Given the description of an element on the screen output the (x, y) to click on. 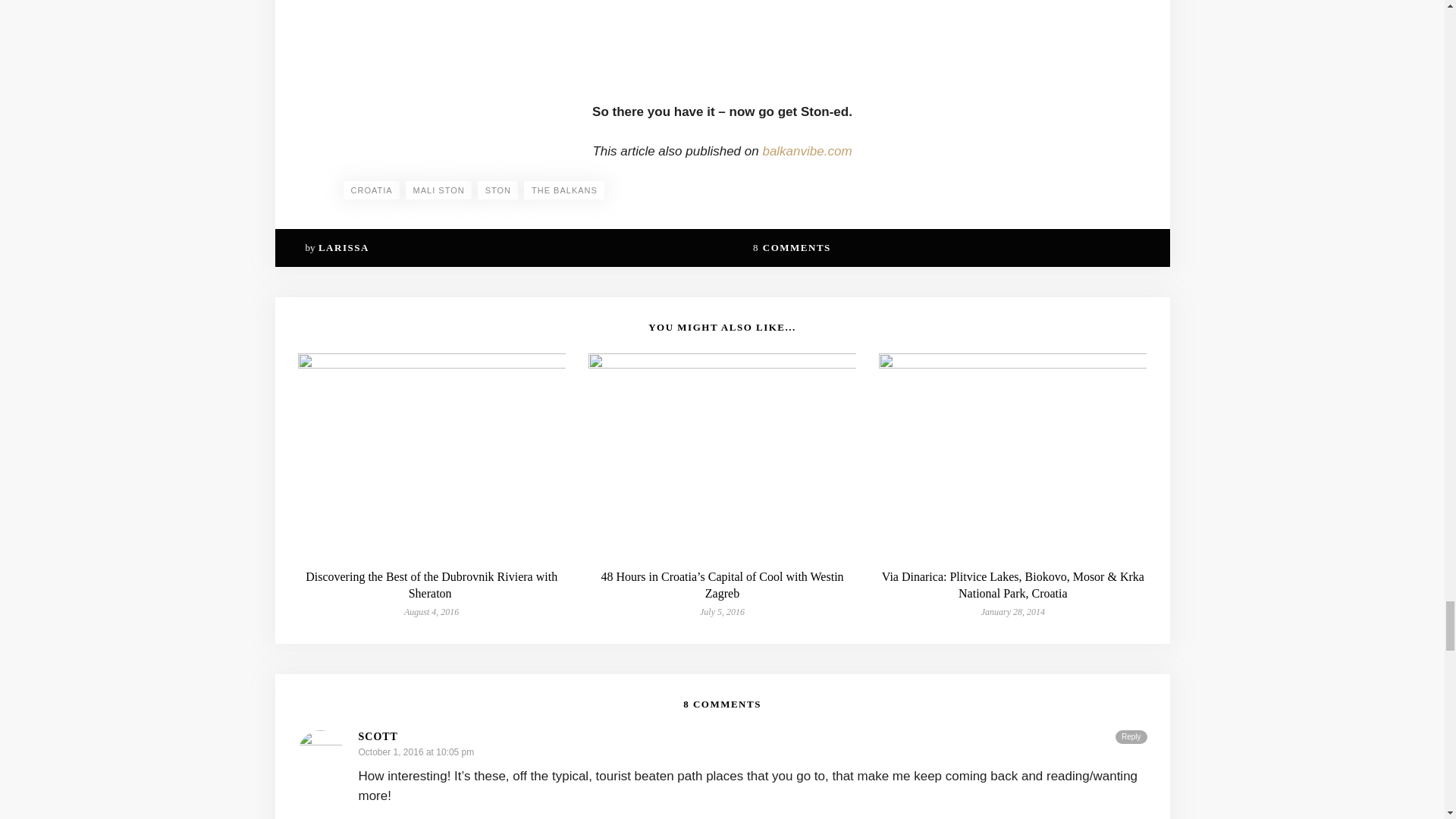
Posts by Larissa (343, 247)
